Given the description of an element on the screen output the (x, y) to click on. 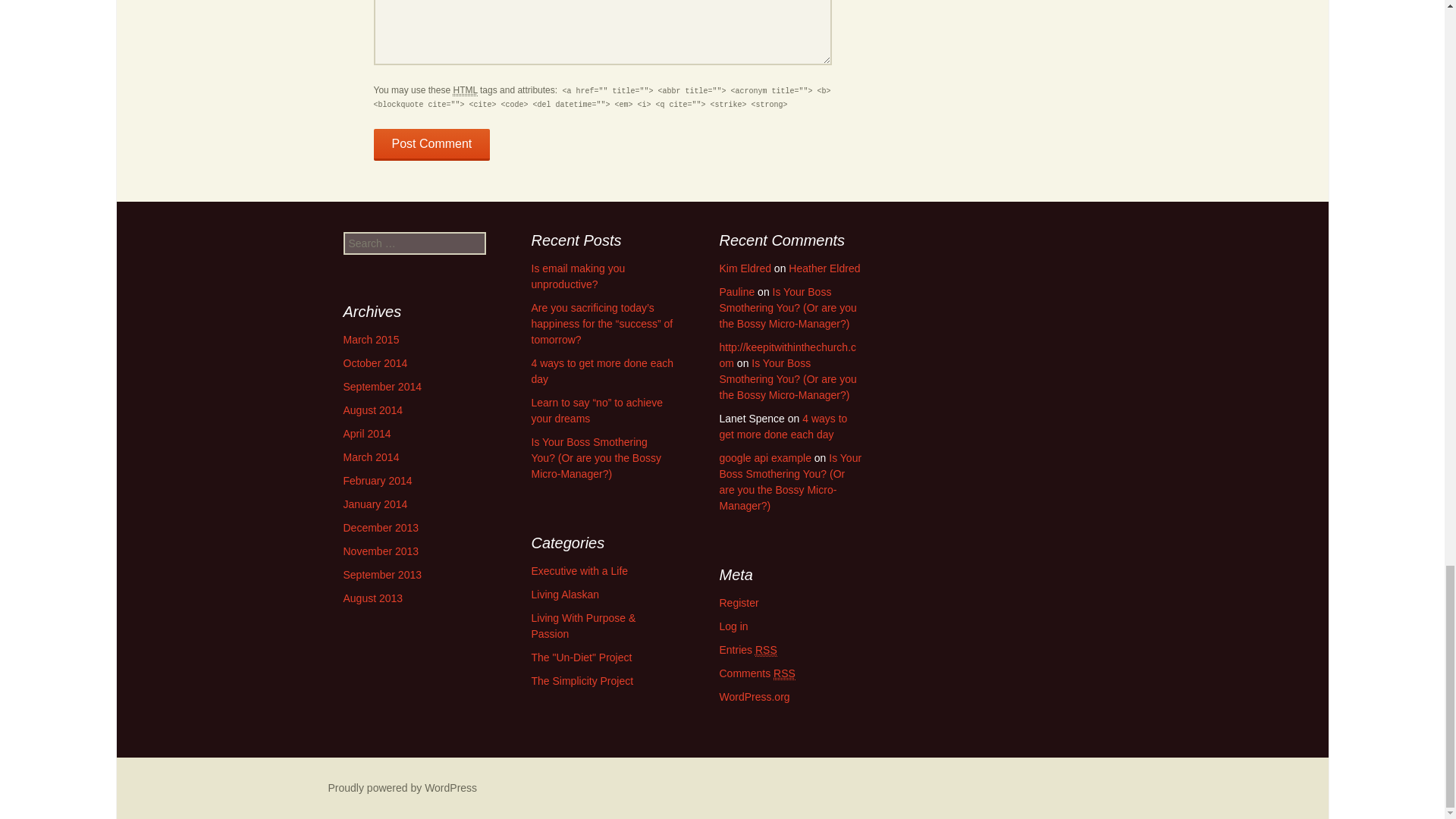
Post Comment (430, 144)
4 ways to get more done each day (783, 426)
Really Simple Syndication (766, 649)
Search for: (413, 242)
Really Simple Syndication (783, 673)
google api example (764, 458)
Semantic Personal Publishing Platform (402, 787)
Heather Eldred (824, 268)
Kim Eldred (744, 268)
